Given the description of an element on the screen output the (x, y) to click on. 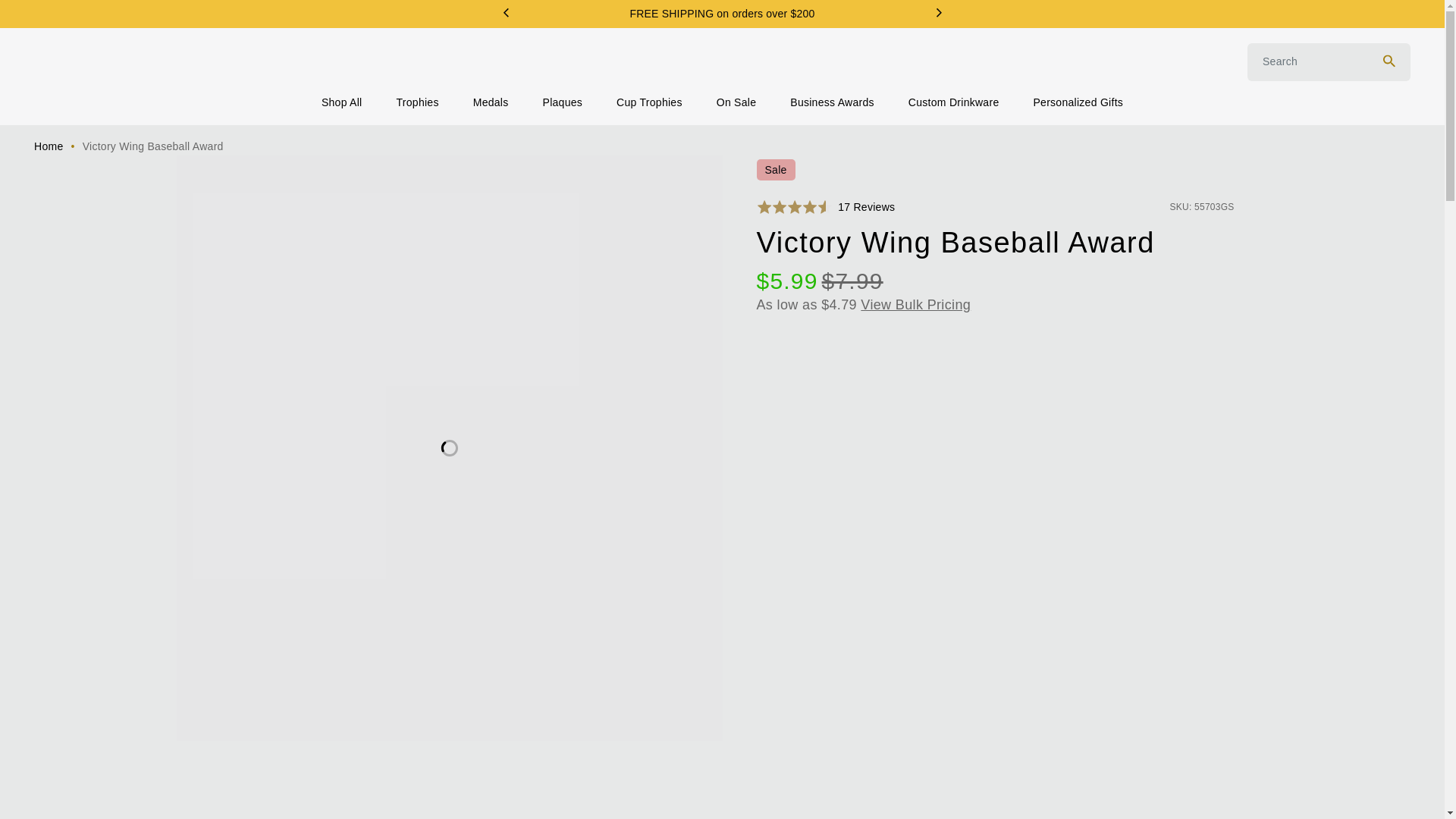
Business Awards (832, 102)
Trophies (417, 102)
View Bulk Pricing (915, 304)
On Sale (736, 102)
Custom Drinkware (953, 102)
Medals (490, 102)
Shop All (341, 102)
Home (47, 146)
Plaques (563, 102)
